Given the description of an element on the screen output the (x, y) to click on. 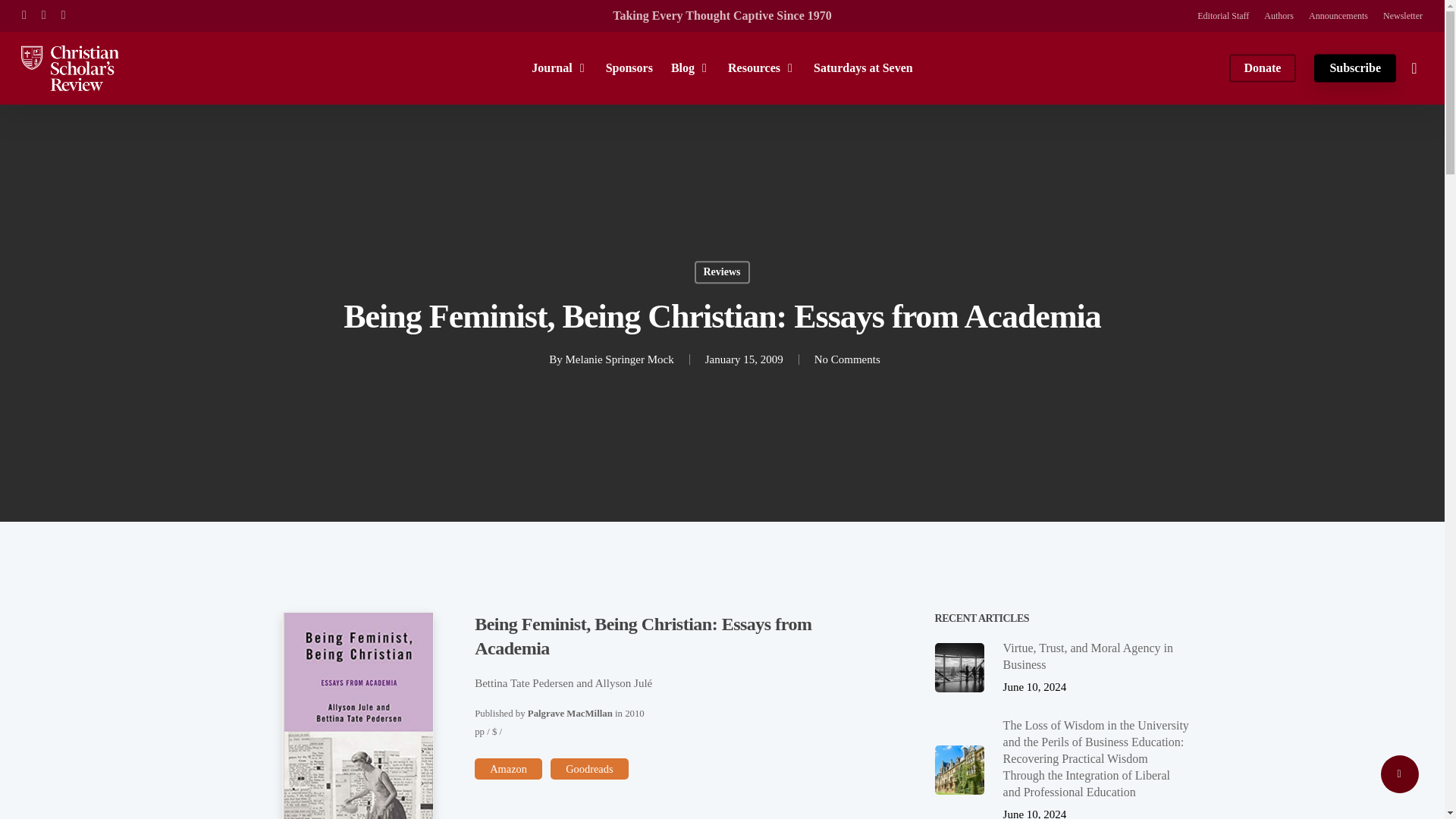
Journal (558, 67)
Authors (1278, 15)
Blog (690, 67)
Posts by Melanie Springer Mock (618, 359)
Sponsors (628, 67)
Editorial Staff (1222, 15)
Announcements (1338, 15)
Newsletter (1402, 15)
Taking Every Thought Captive Since 1970 (721, 15)
